Given the description of an element on the screen output the (x, y) to click on. 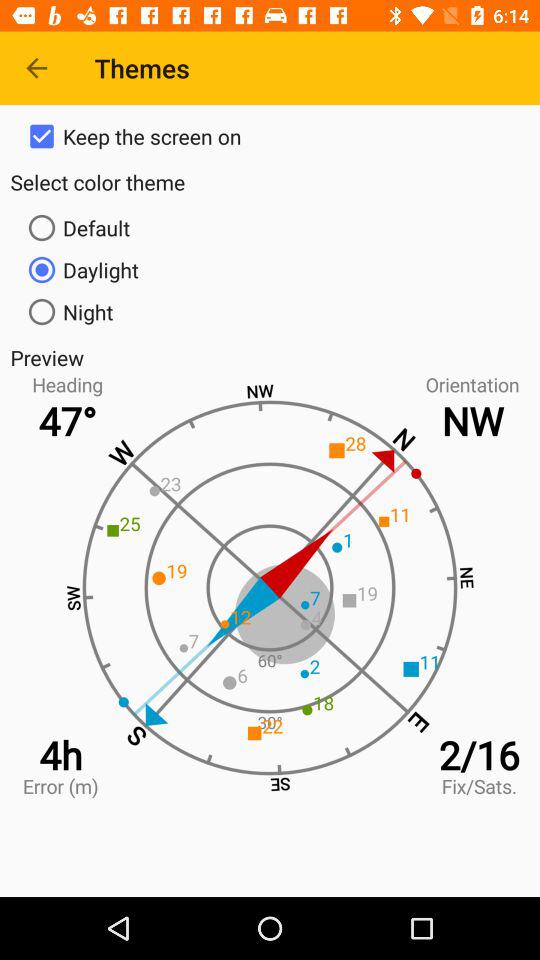
turn on icon below default item (270, 269)
